Given the description of an element on the screen output the (x, y) to click on. 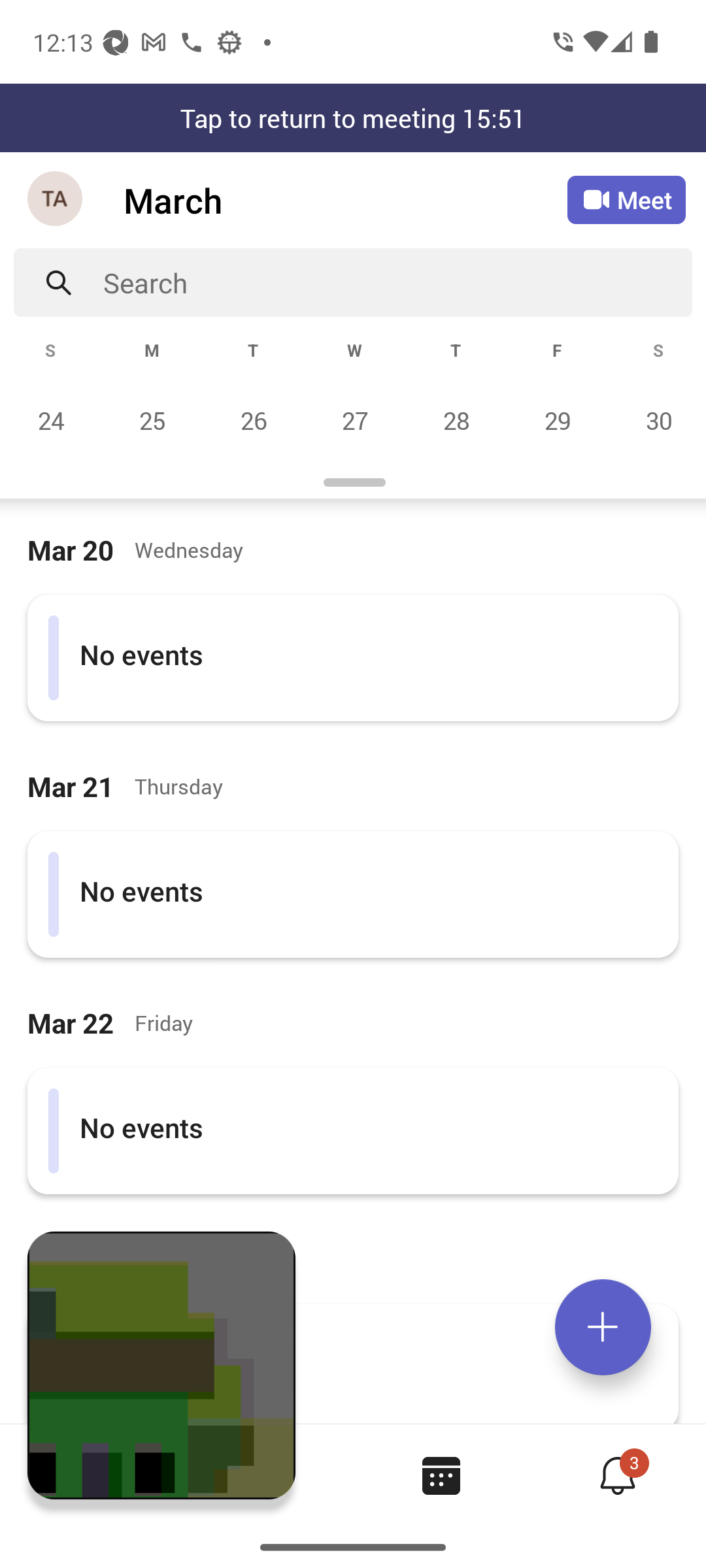
Tap to return to meeting 15:51 (353, 117)
Navigation (56, 199)
Meet Meet now or join with an ID (626, 199)
March March Calendar Agenda View (345, 199)
Search (397, 281)
Sunday, March 24 24 (50, 420)
Monday, March 25 25 (151, 420)
Tuesday, March 26 26 (253, 420)
Wednesday, March 27 27 (354, 420)
Thursday, March 28 28 (455, 420)
Friday, March 29 29 (556, 420)
Saturday, March 30 30 (656, 420)
Expand meetings menu (602, 1327)
Calendar tab, 3 of 4 (441, 1475)
Activity tab,4 of 4, not selected, 3 new 3 (617, 1475)
